Given the description of an element on the screen output the (x, y) to click on. 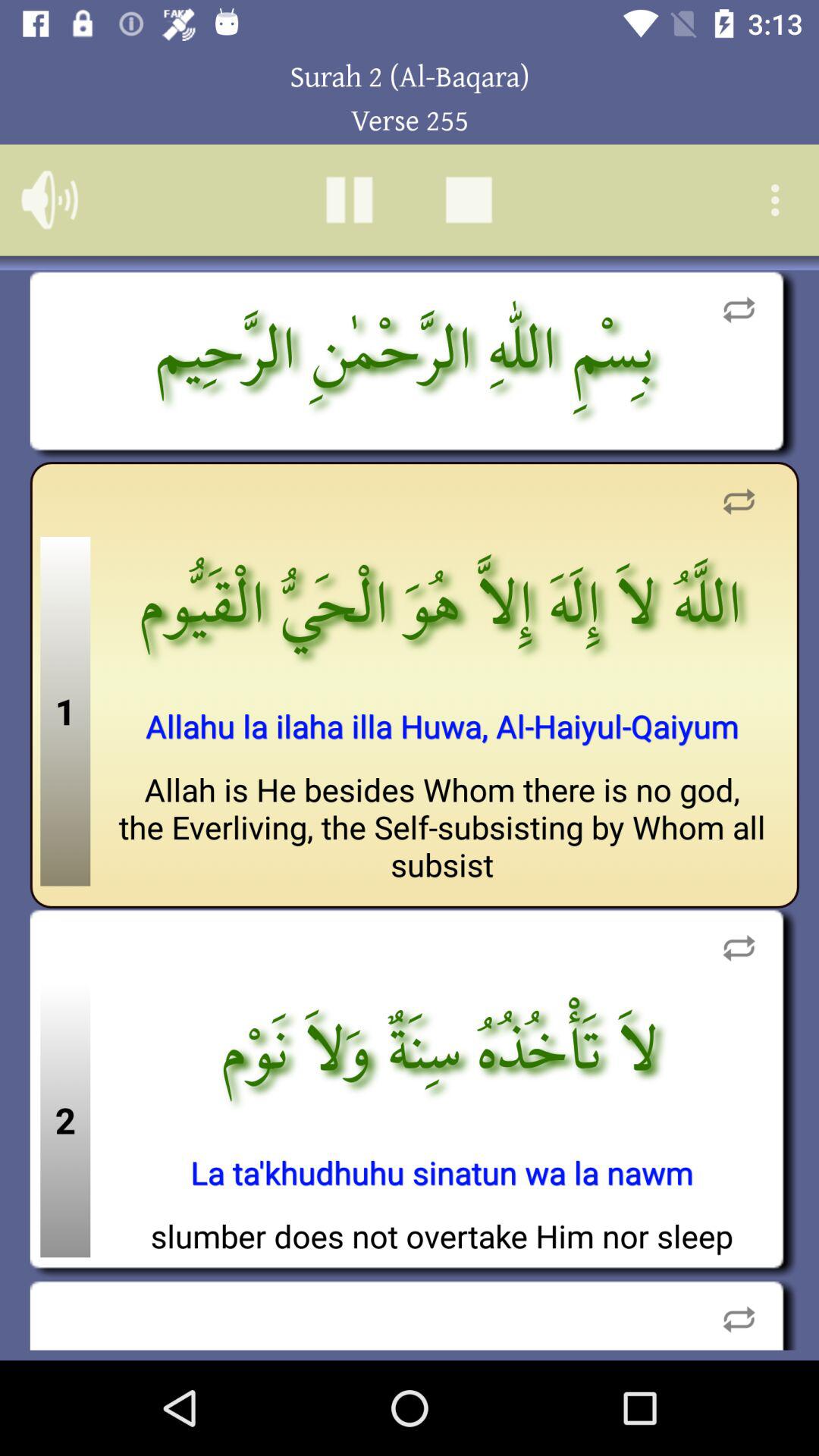
refresh (738, 501)
